Given the description of an element on the screen output the (x, y) to click on. 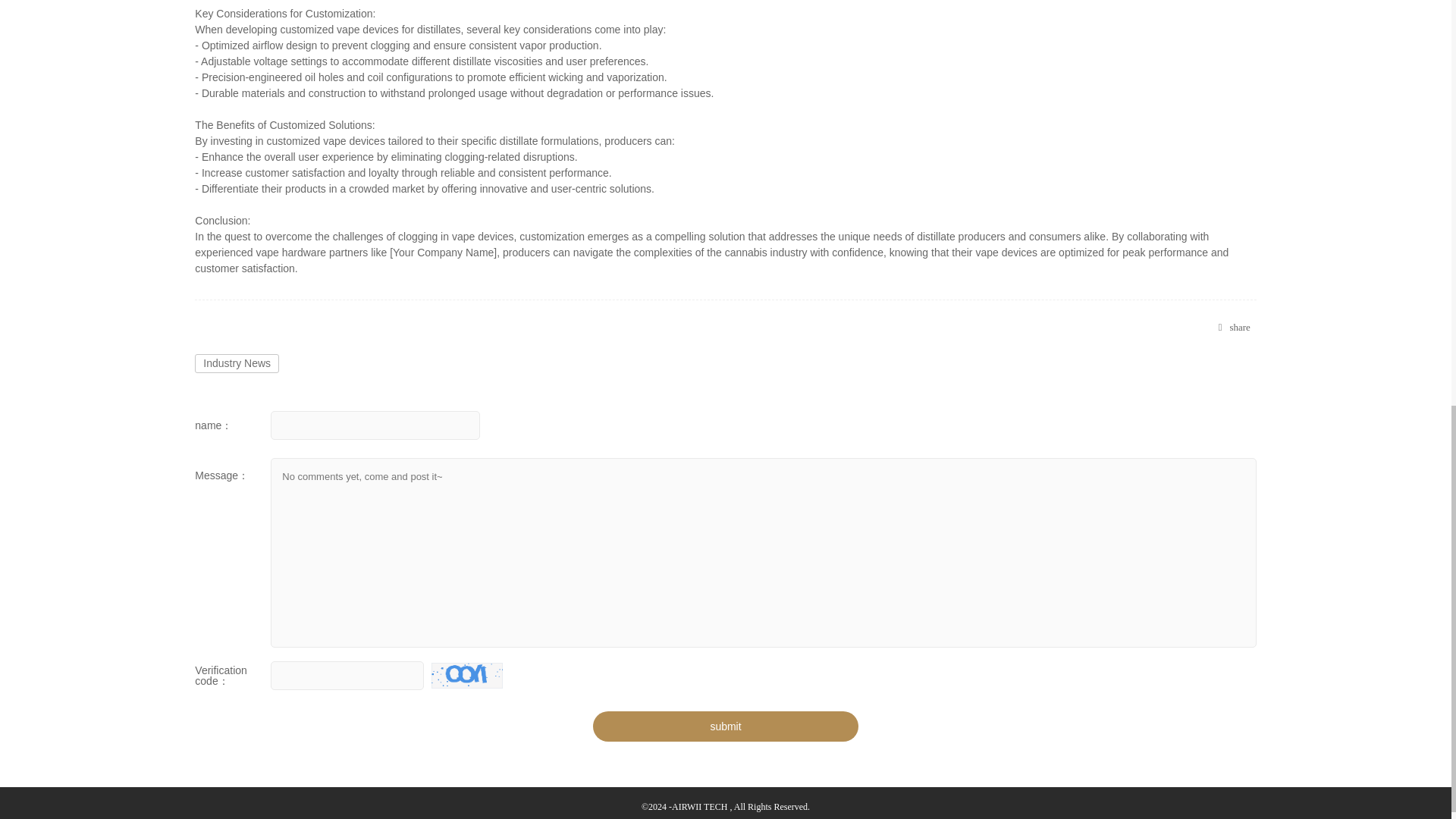
Industry News (237, 363)
Change the Captcha. (466, 675)
